Given the description of an element on the screen output the (x, y) to click on. 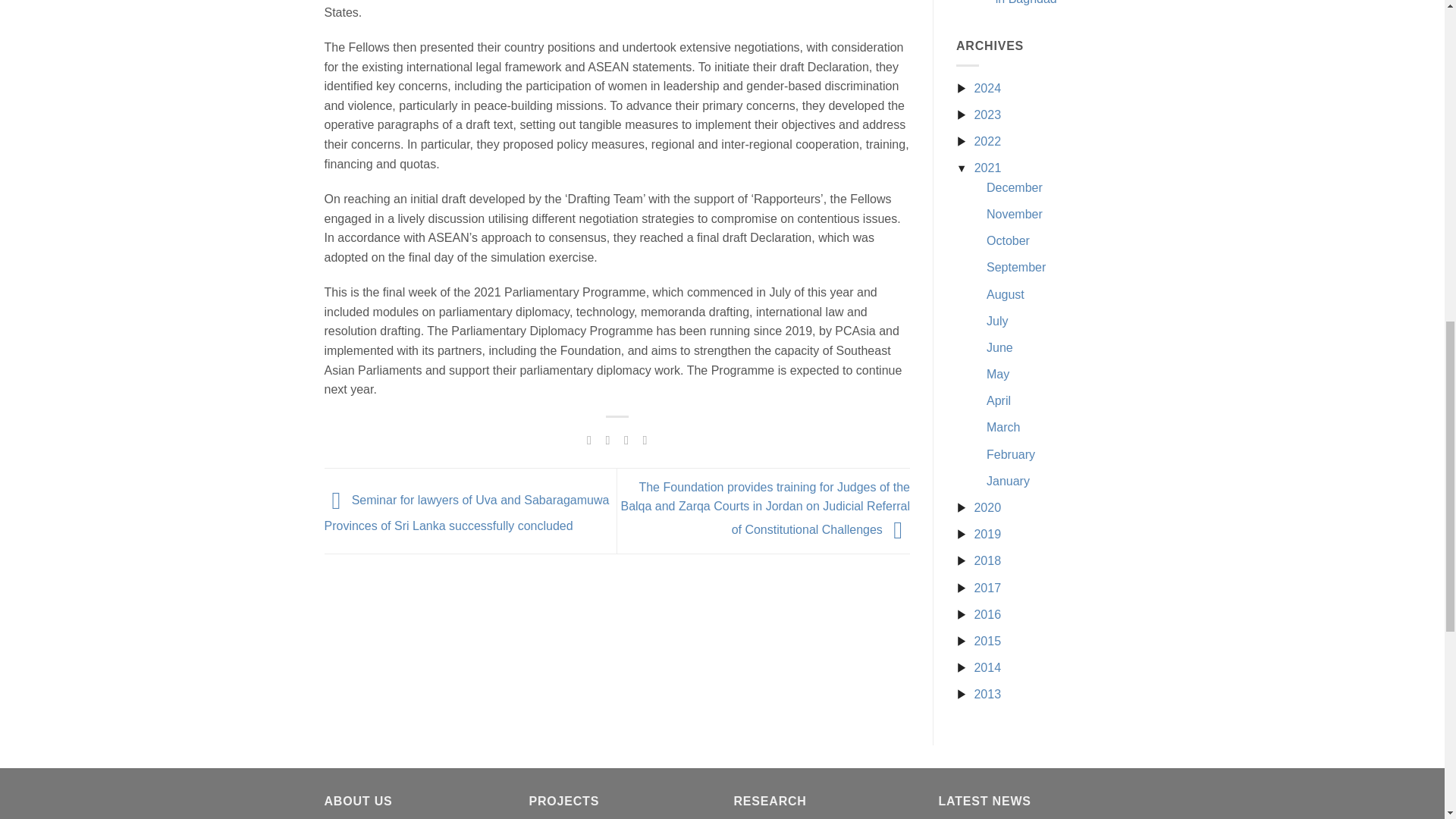
Email to a Friend (625, 439)
Share on LinkedIn (644, 439)
